Given the description of an element on the screen output the (x, y) to click on. 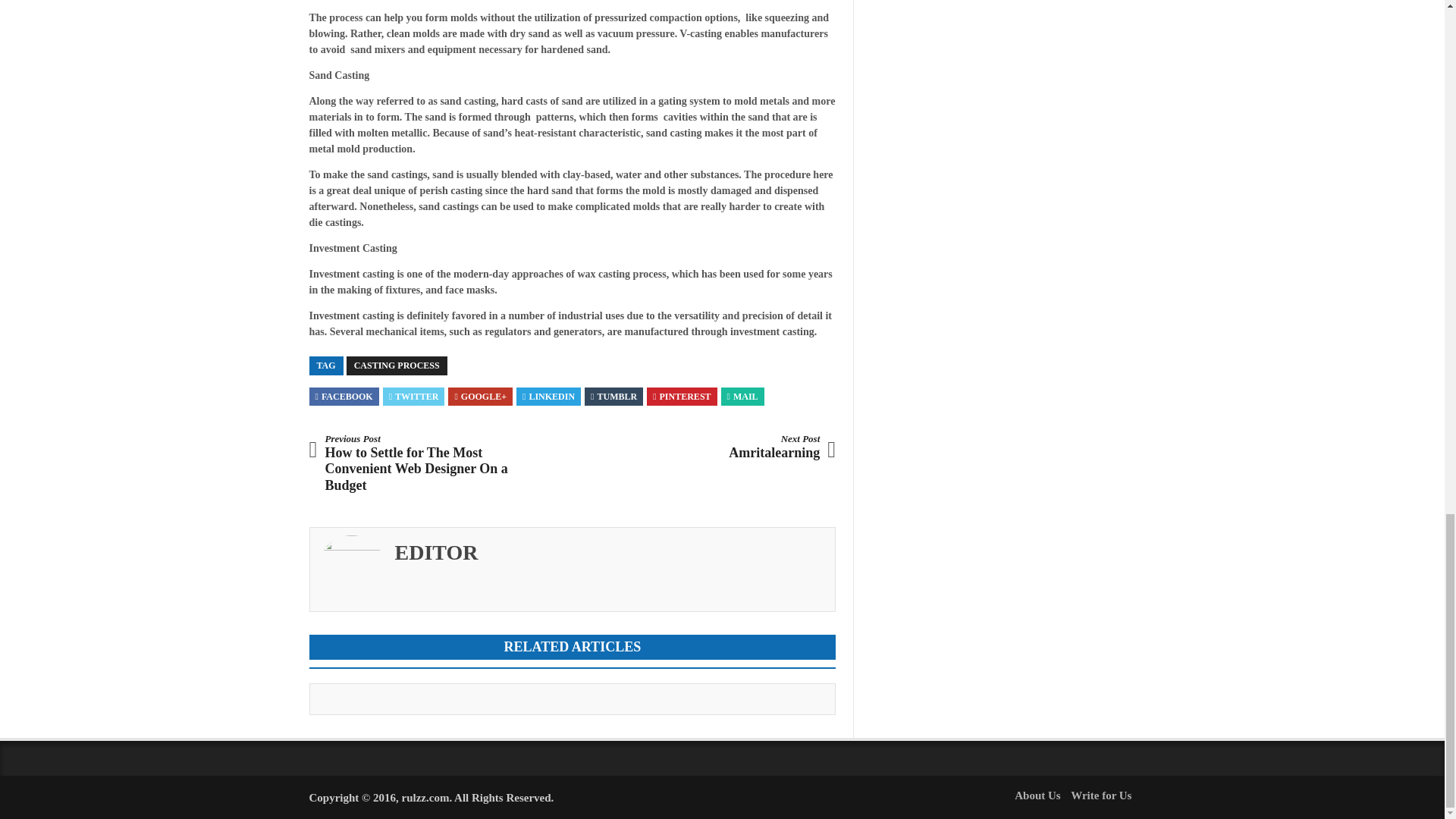
Facebook (343, 396)
Twitter (413, 396)
Pinterest (681, 396)
Tumblr (614, 396)
Google Plus (480, 396)
Mail (742, 396)
LinkedIn (548, 396)
